Given the description of an element on the screen output the (x, y) to click on. 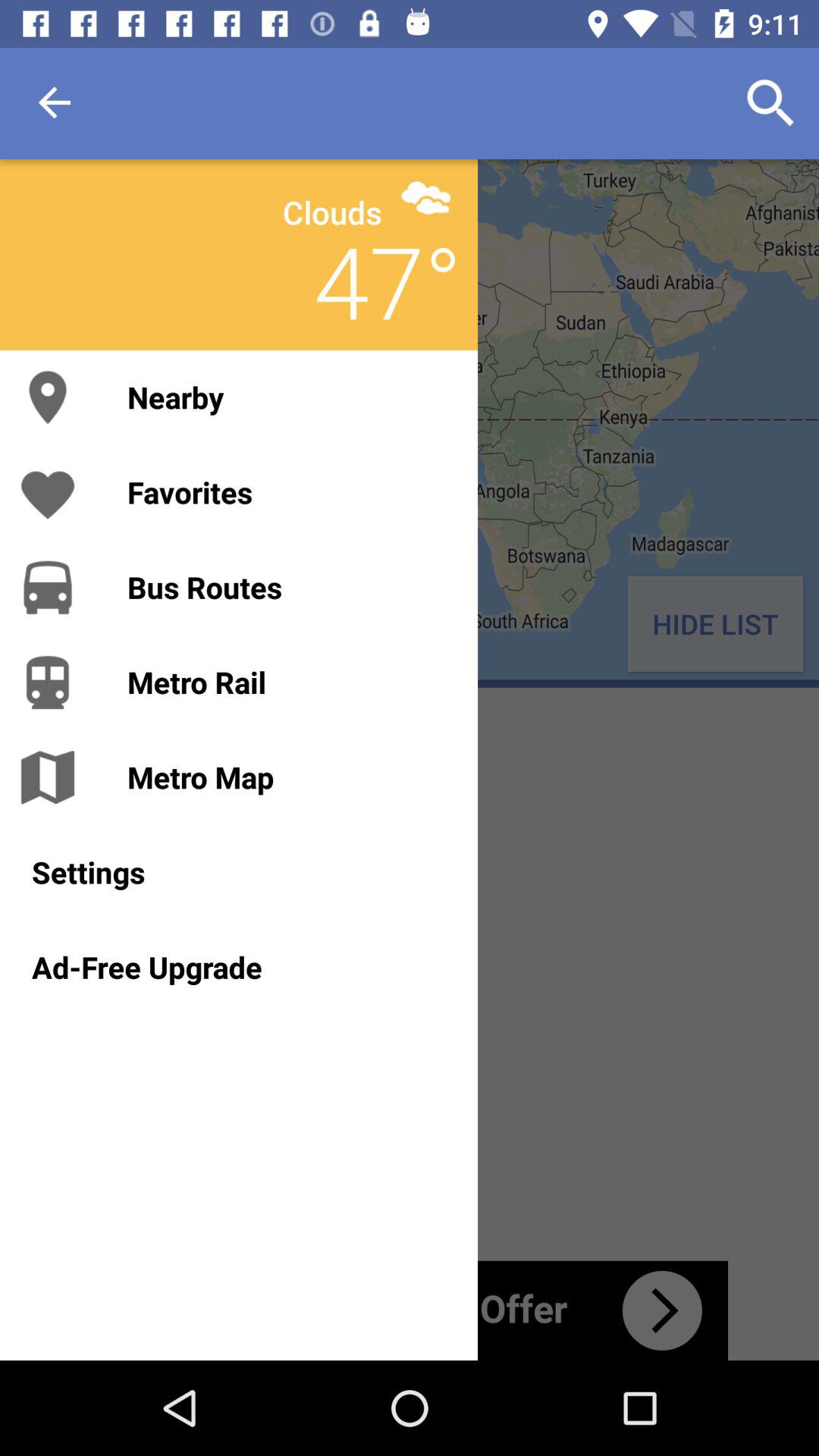
select icon at the top right corner (771, 103)
